Given the description of an element on the screen output the (x, y) to click on. 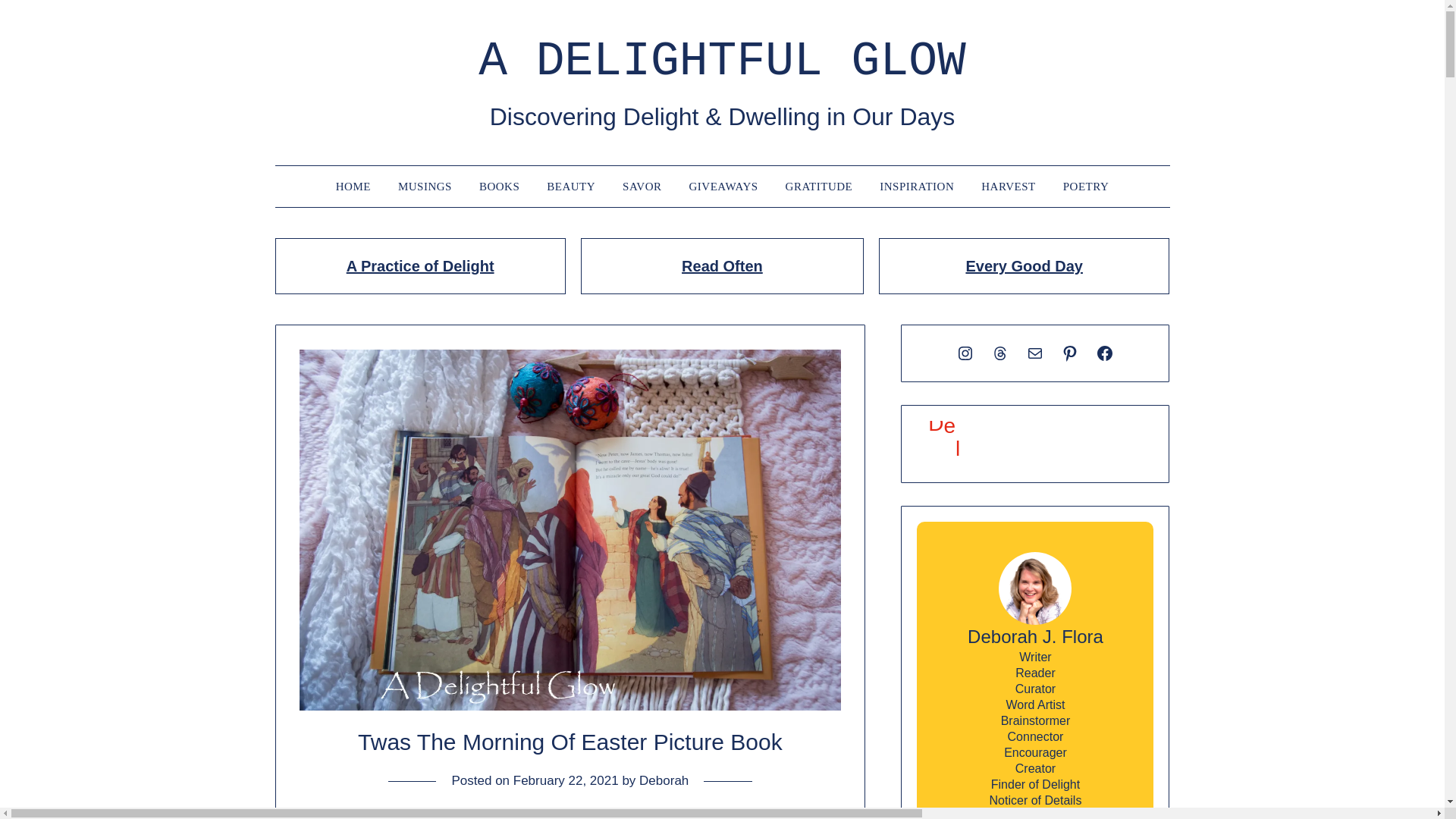
BEAUTY (570, 185)
A DELIGHTFUL GLOW (722, 61)
MUSINGS (424, 185)
GIVEAWAYS (723, 185)
HOME (352, 185)
Read Often (721, 265)
BOOKS (499, 185)
A Practice of Delight (420, 265)
INSPIRATION (916, 185)
POETRY (1086, 185)
